Given the description of an element on the screen output the (x, y) to click on. 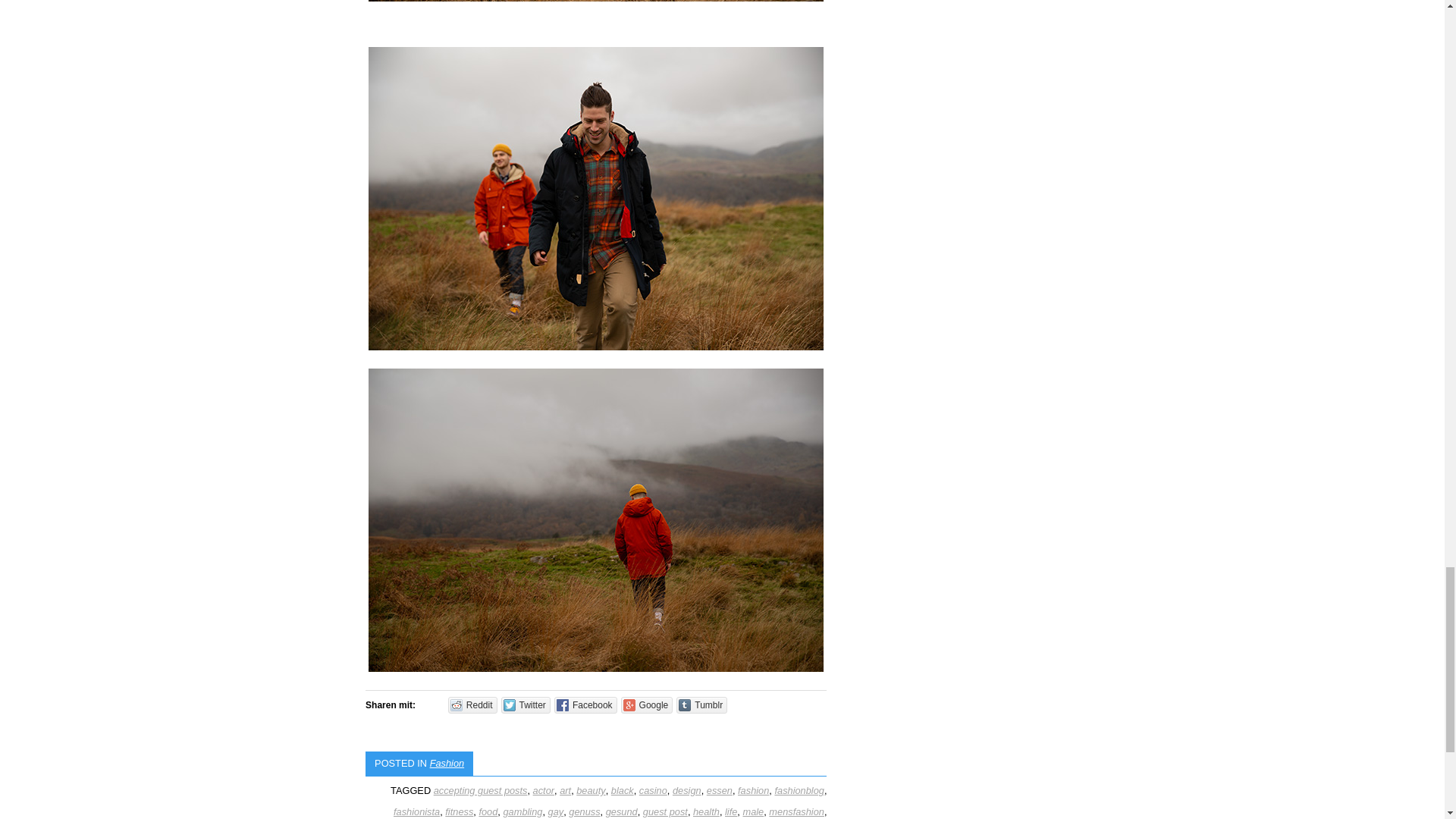
fitness (459, 811)
Google (646, 704)
Klicke, um auf Tumblr zu teilen (701, 704)
Reddit (472, 704)
fashion (753, 790)
Klicken, um auf Reddit zu sharen (472, 704)
fashionblog (799, 790)
Twitter (525, 704)
black (622, 790)
beauty (590, 790)
Tumblr (701, 704)
Facebook (585, 704)
accepting guest posts (480, 790)
Fashion (446, 763)
art (564, 790)
